Given the description of an element on the screen output the (x, y) to click on. 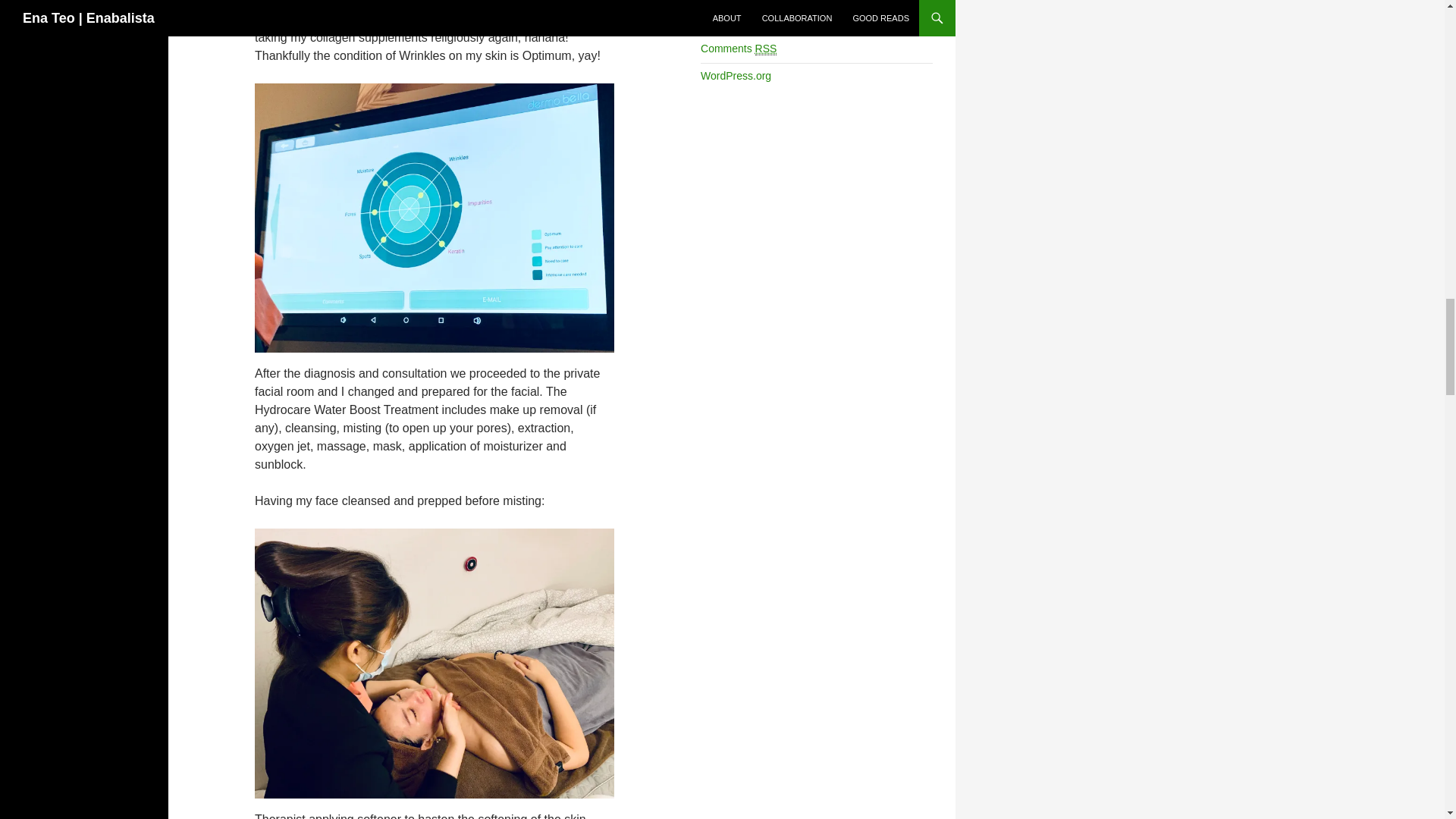
Really Simple Syndication (766, 48)
Really Simple Syndication (747, 21)
